Given the description of an element on the screen output the (x, y) to click on. 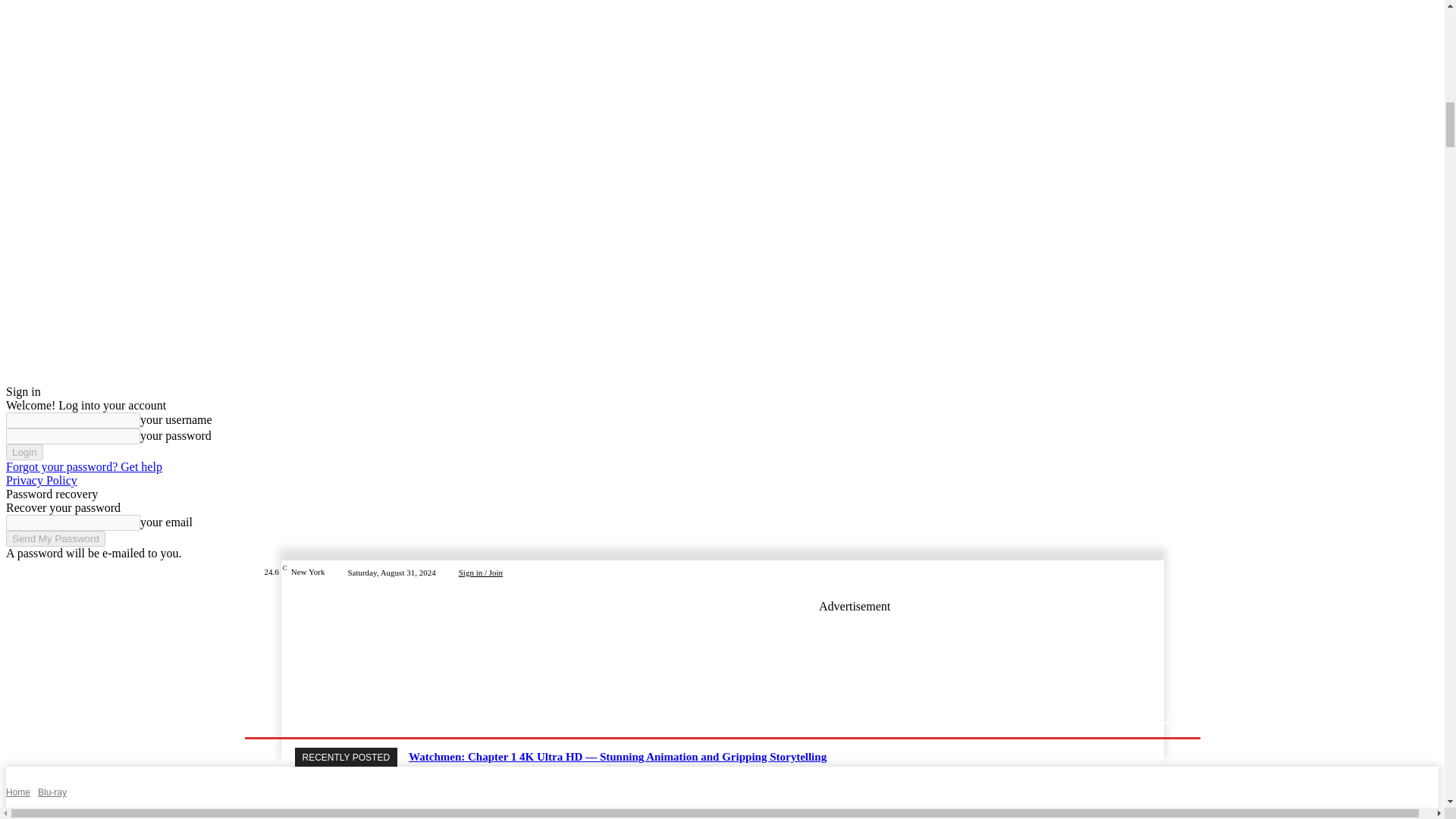
Facebook (1099, 572)
Login (24, 452)
Youtube (1171, 572)
Instagram (1117, 572)
Vimeo (1153, 572)
Send My Password (54, 538)
Twitter (1135, 572)
